Given the description of an element on the screen output the (x, y) to click on. 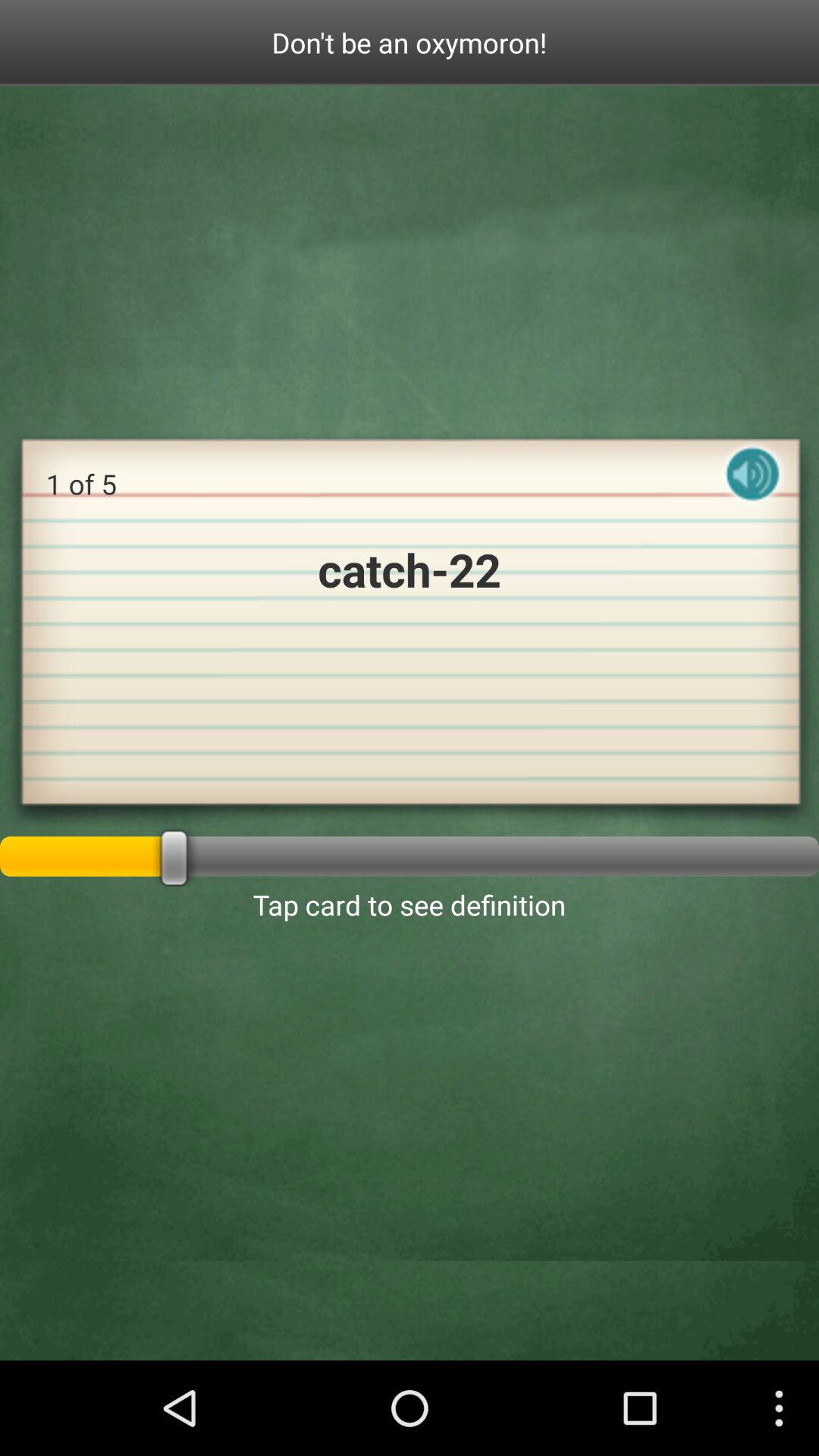
tap the icon on the right (752, 486)
